Given the description of an element on the screen output the (x, y) to click on. 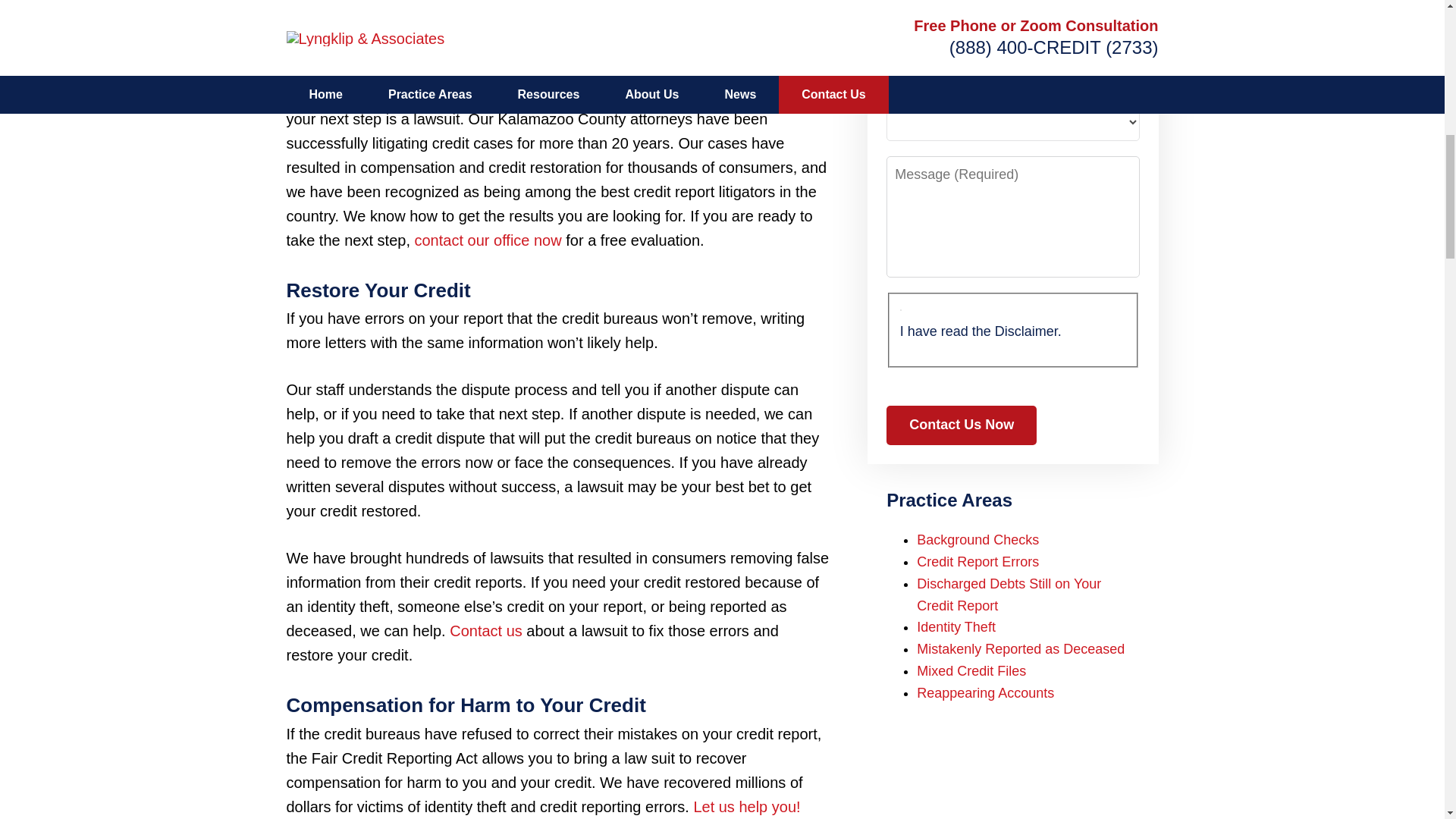
contact our office now (486, 239)
Contact us (485, 630)
Let us help you! (746, 806)
